Given the description of an element on the screen output the (x, y) to click on. 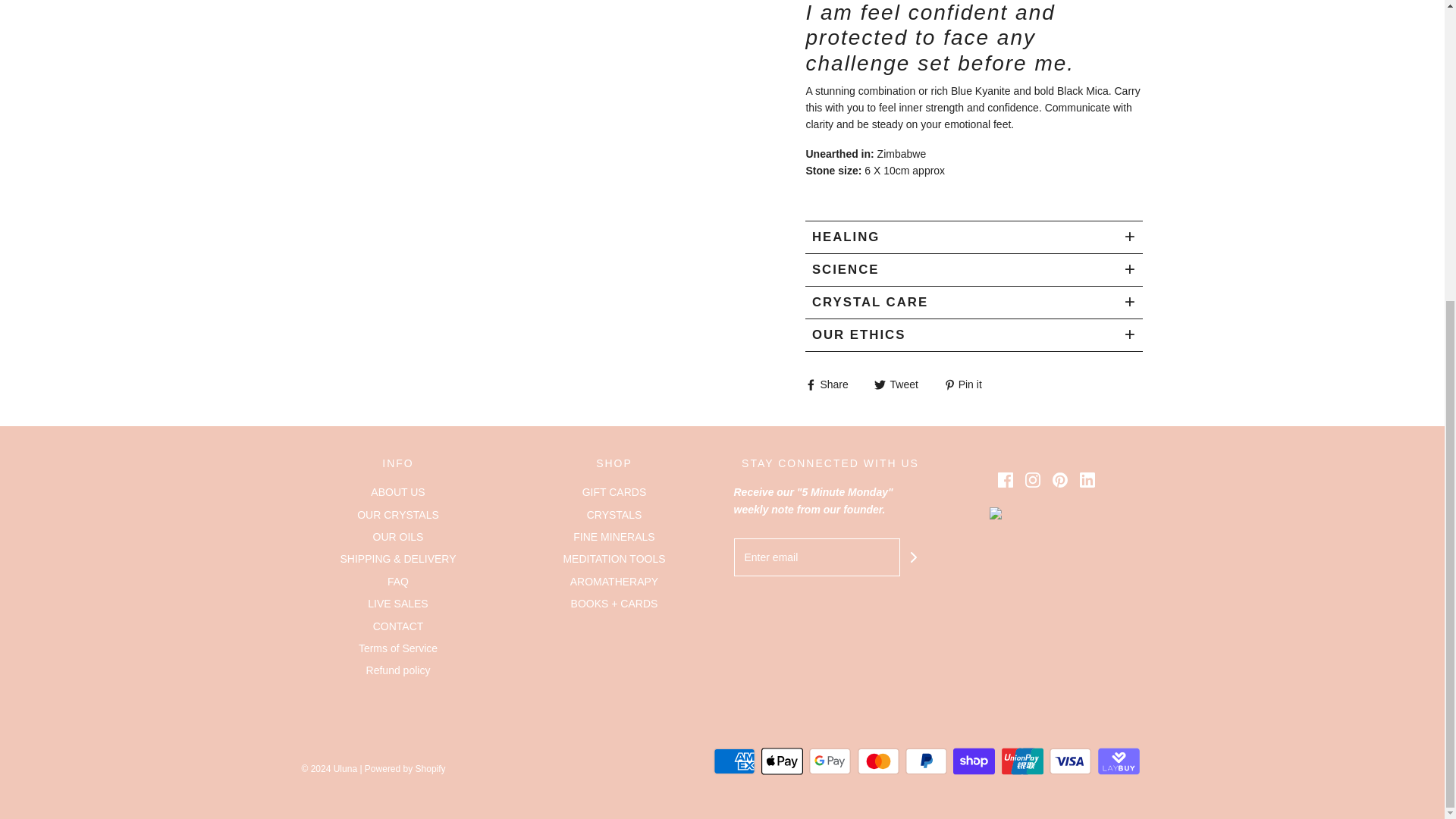
Union Pay (1022, 761)
American Express (734, 761)
Mastercard (878, 761)
Shop Pay (973, 761)
Google Pay (829, 761)
Visa (1069, 761)
Apple Pay (782, 761)
Pinterest icon (1059, 479)
LinkedIn icon (1087, 479)
PayPal (926, 761)
Facebook icon (1005, 479)
Instagram icon (1033, 479)
